Given the description of an element on the screen output the (x, y) to click on. 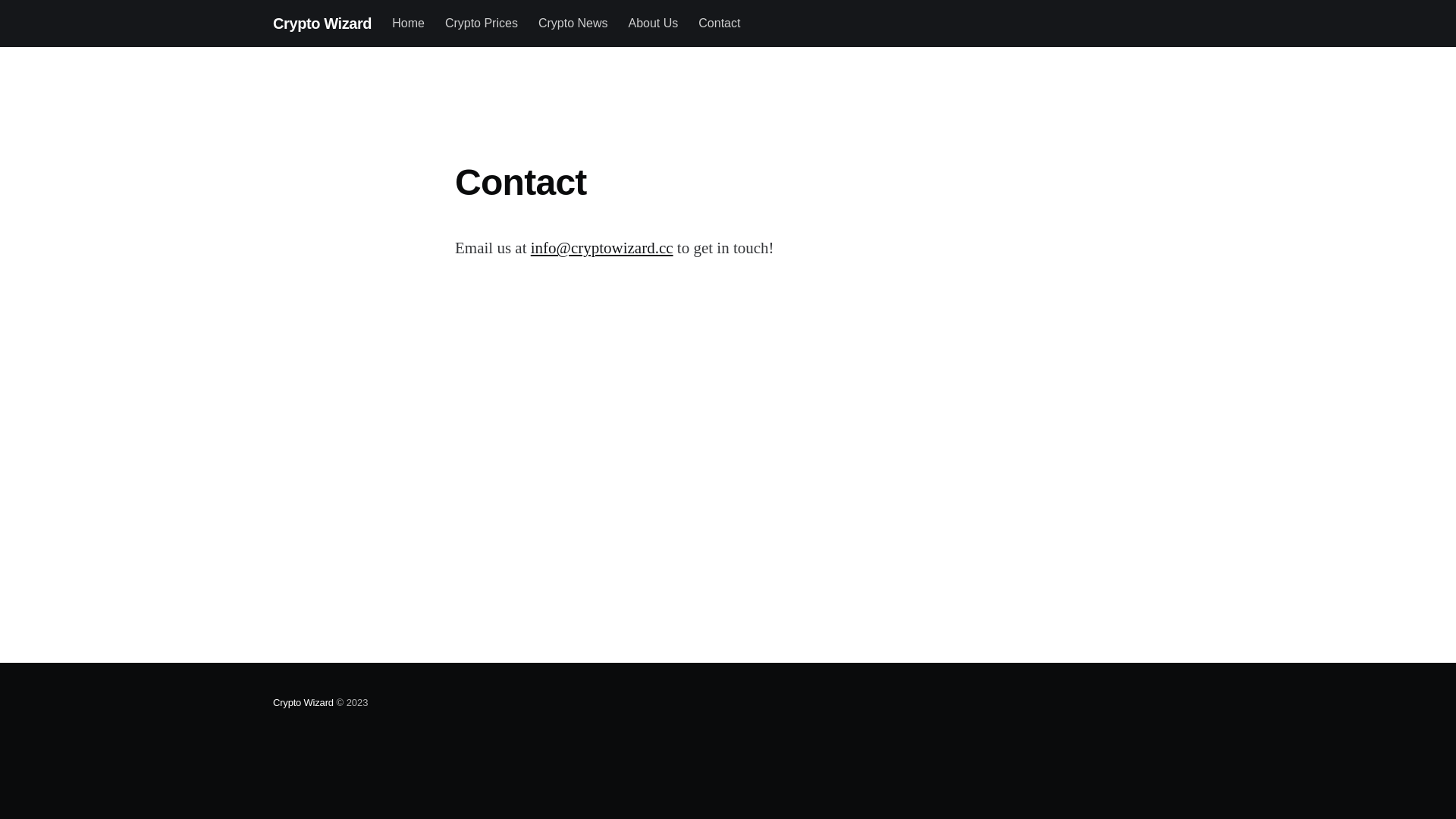
Contact Element type: text (719, 23)
info@cryptowizard.cc Element type: text (601, 247)
Crypto Prices Element type: text (481, 23)
Crypto Wizard Element type: text (303, 702)
Home Element type: text (408, 23)
Crypto News Element type: text (573, 23)
Crypto Wizard Element type: text (322, 23)
About Us Element type: text (652, 23)
